Given the description of an element on the screen output the (x, y) to click on. 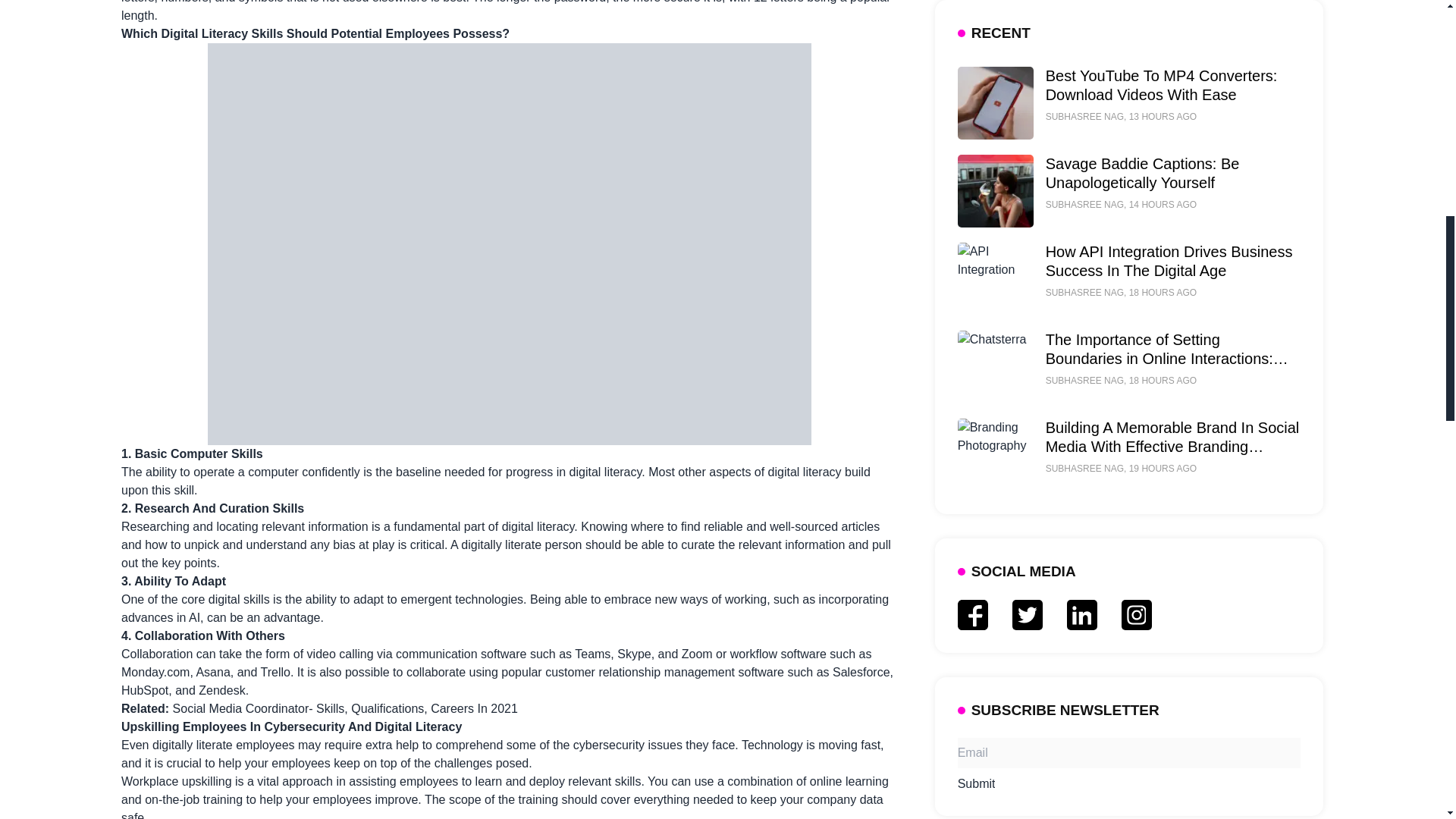
Submit (976, 444)
Posts by Subhasree Nag (1084, 129)
Posts by Subhasree Nag (1084, 41)
